Given the description of an element on the screen output the (x, y) to click on. 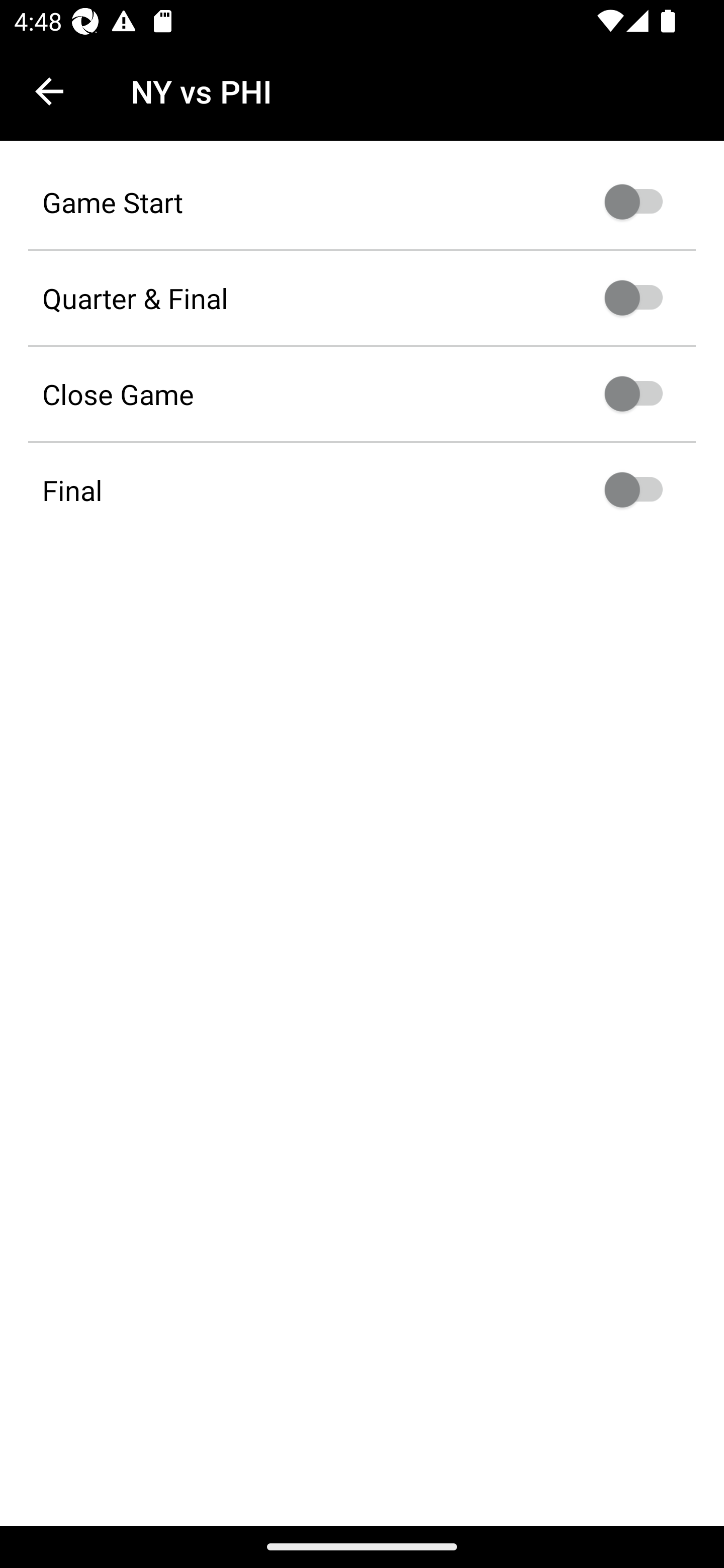
Navigate up (49, 91)
